Given the description of an element on the screen output the (x, y) to click on. 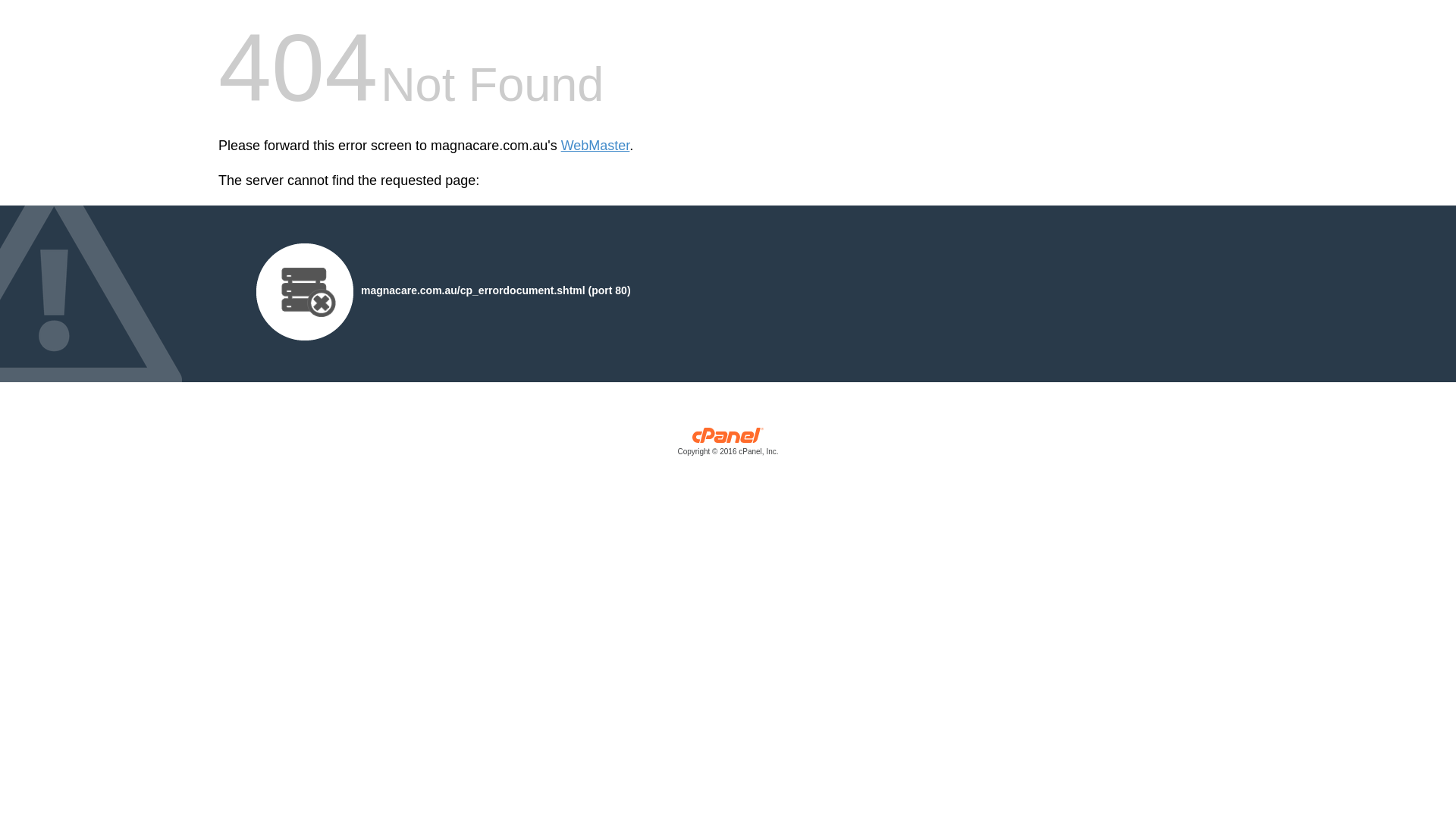
WebMaster Element type: text (595, 145)
